Given the description of an element on the screen output the (x, y) to click on. 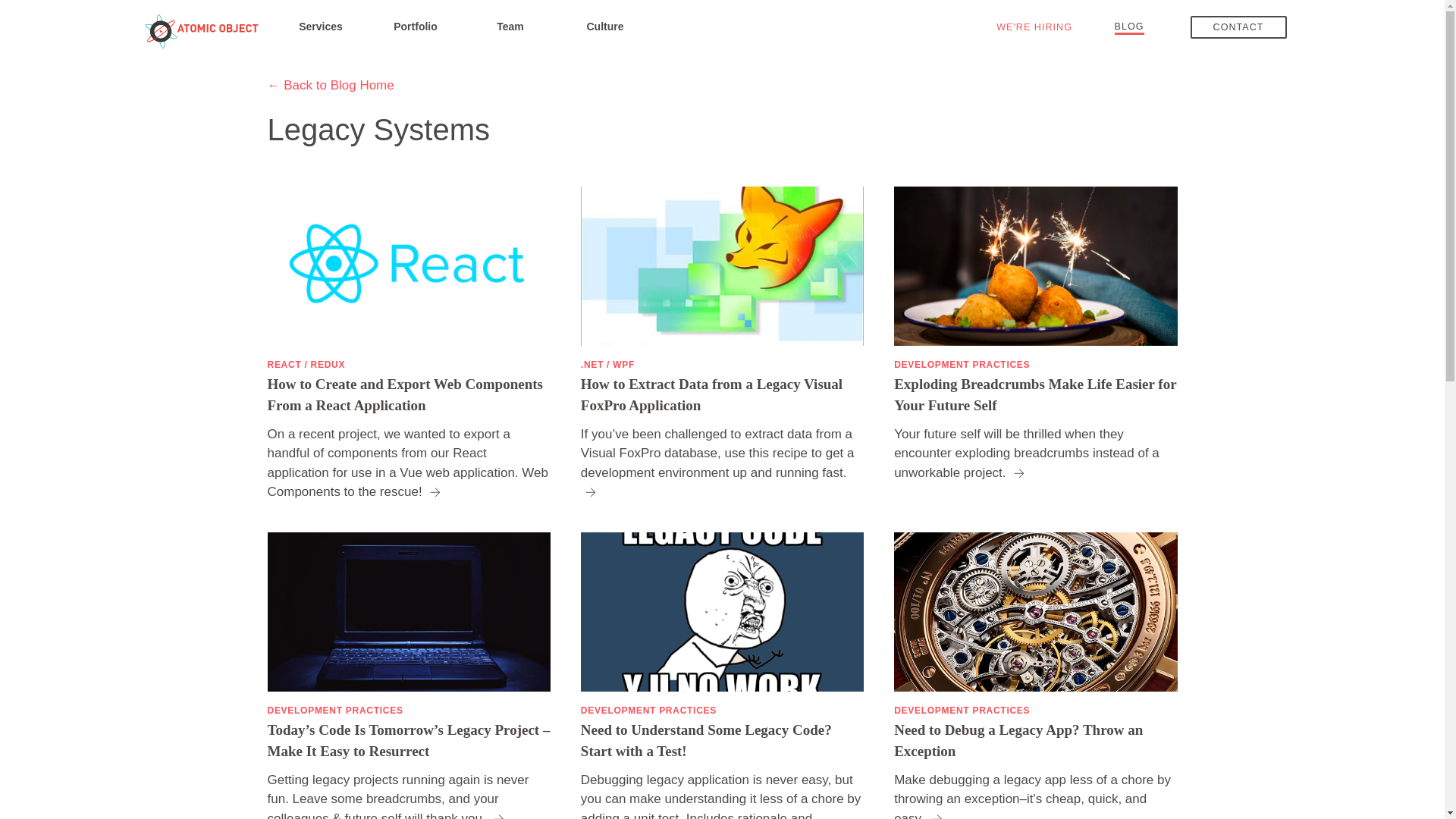
BLOG (1129, 26)
DEVELOPMENT PRACTICES (961, 363)
Services (320, 26)
CONTACT (1239, 26)
Team (510, 26)
Exploding Breadcrumbs Make Life Easier for Your Future Self (1034, 394)
Portfolio (415, 26)
Culture (605, 26)
How to Extract Data from a Legacy Visual FoxPro Application (721, 394)
WE'RE HIRING (1033, 27)
